Given the description of an element on the screen output the (x, y) to click on. 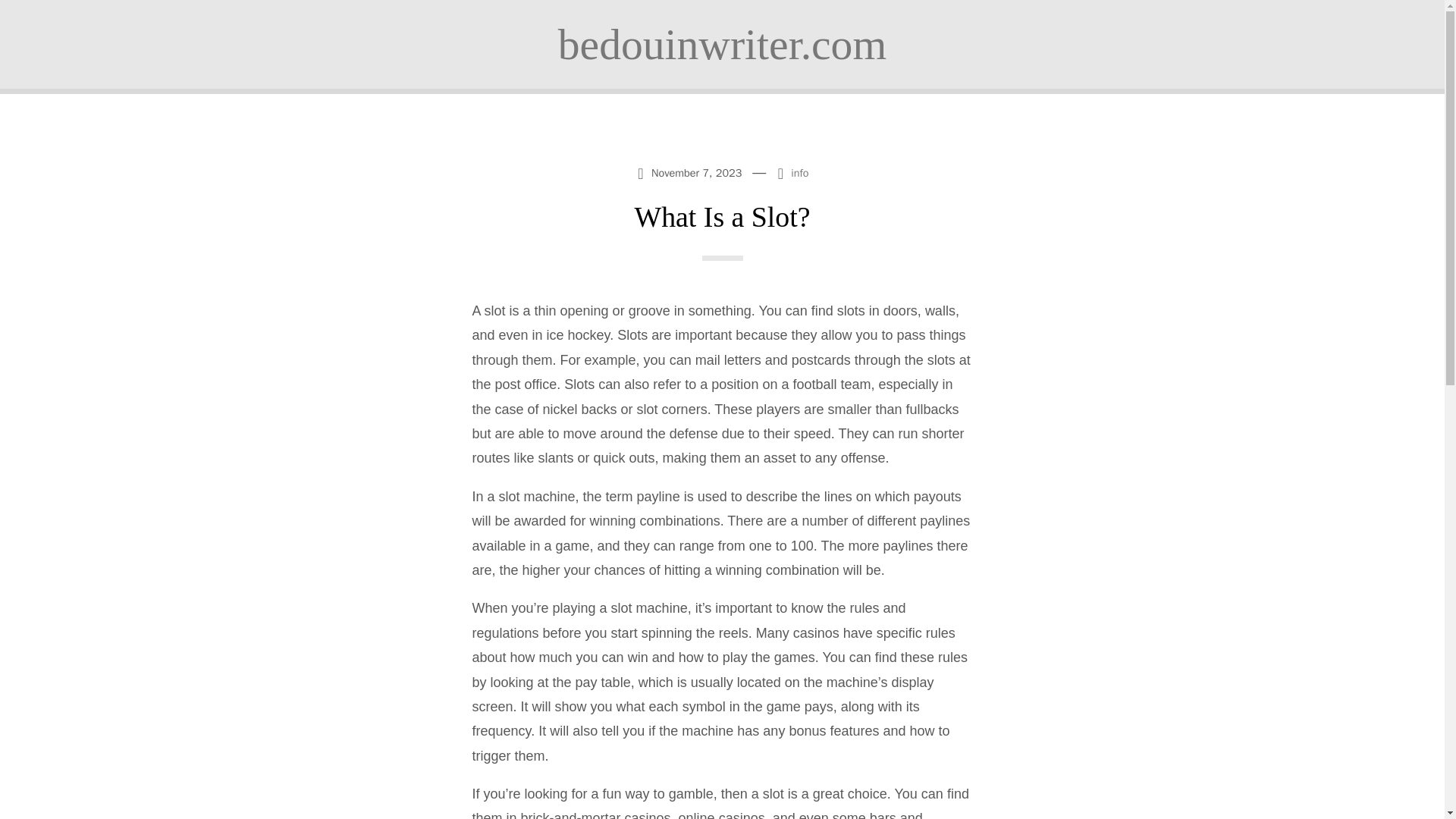
info (799, 172)
bedouinwriter.com (721, 43)
